Given the description of an element on the screen output the (x, y) to click on. 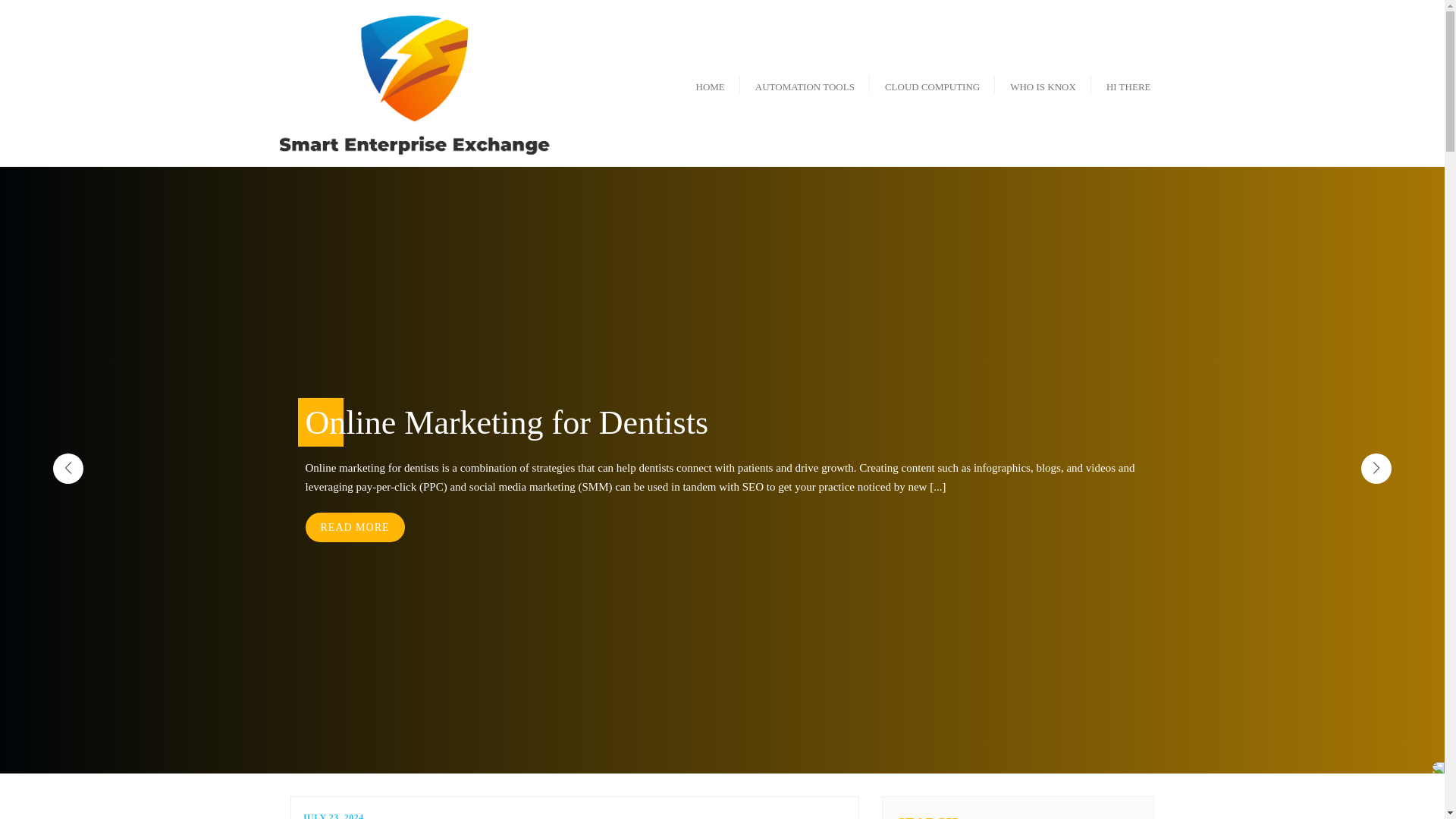
WHO IS KNOX (1042, 82)
CLOUD COMPUTING (931, 82)
READ MORE (354, 527)
HOME (710, 82)
HI THERE (1128, 82)
AUTOMATION TOOLS (804, 82)
JULY 23, 2024 (331, 815)
